Given the description of an element on the screen output the (x, y) to click on. 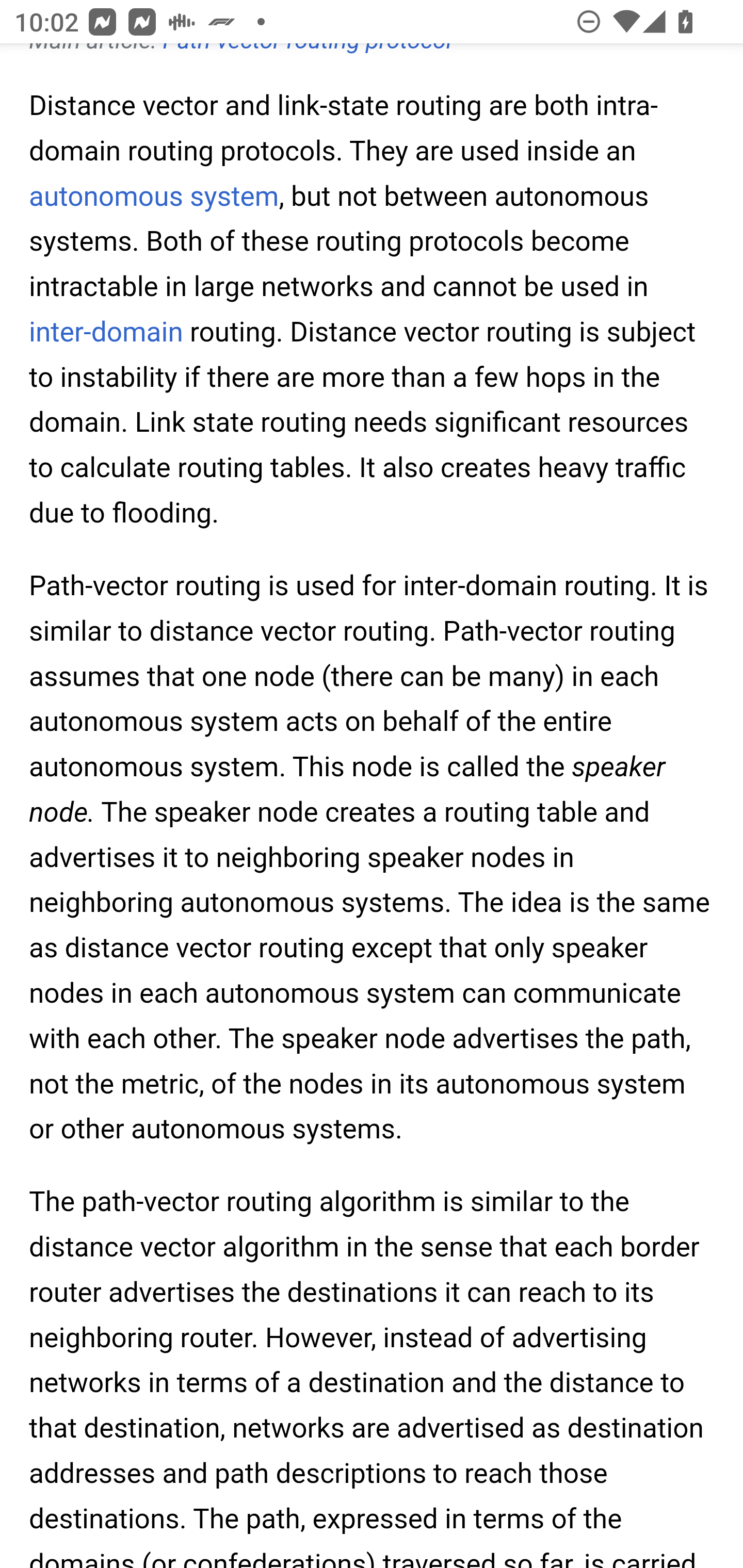
autonomous system (153, 197)
inter-domain (106, 332)
